Given the description of an element on the screen output the (x, y) to click on. 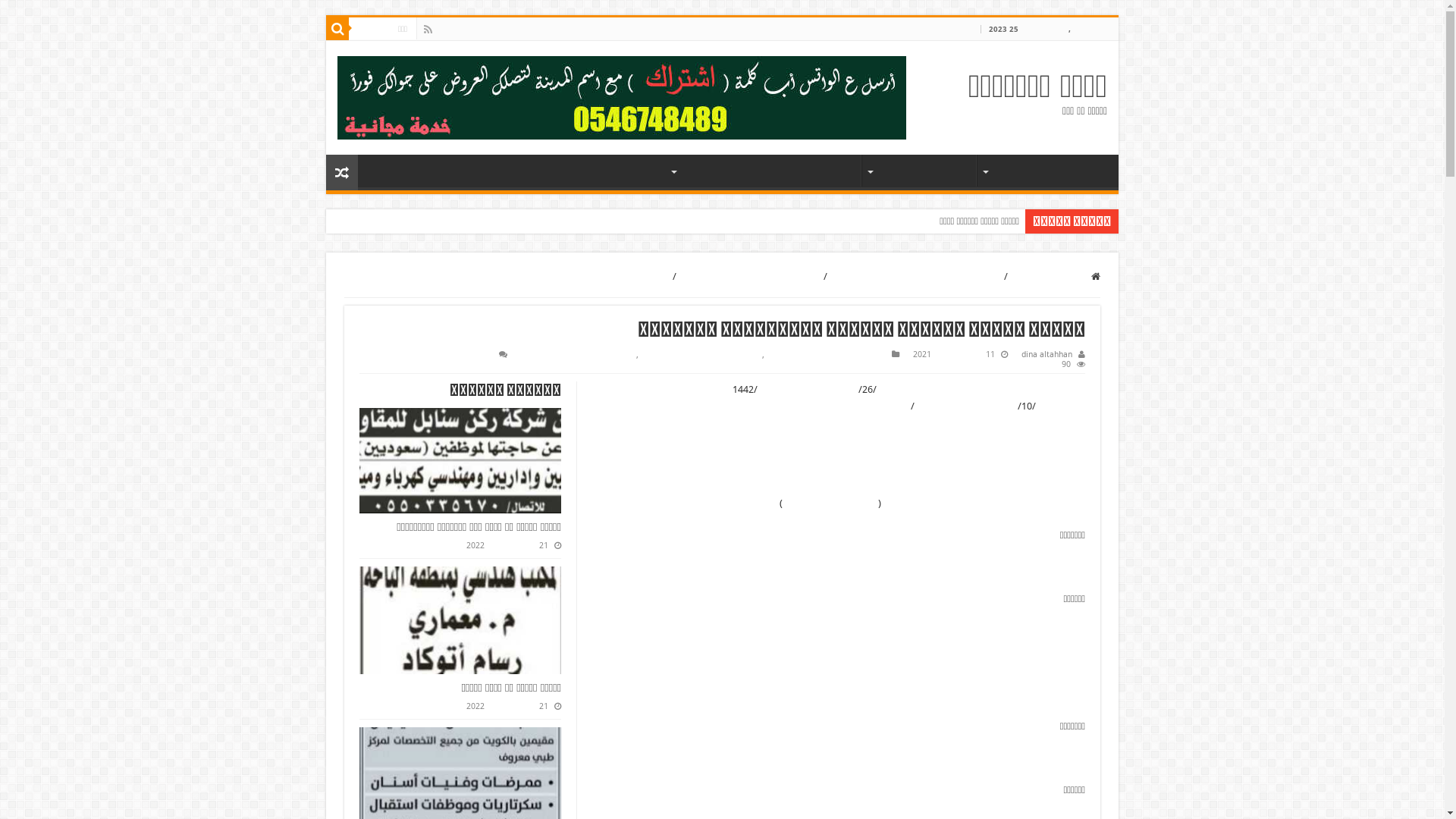
Rss Element type: hover (427, 29)
dina altahhan Element type: text (1046, 354)
